Given the description of an element on the screen output the (x, y) to click on. 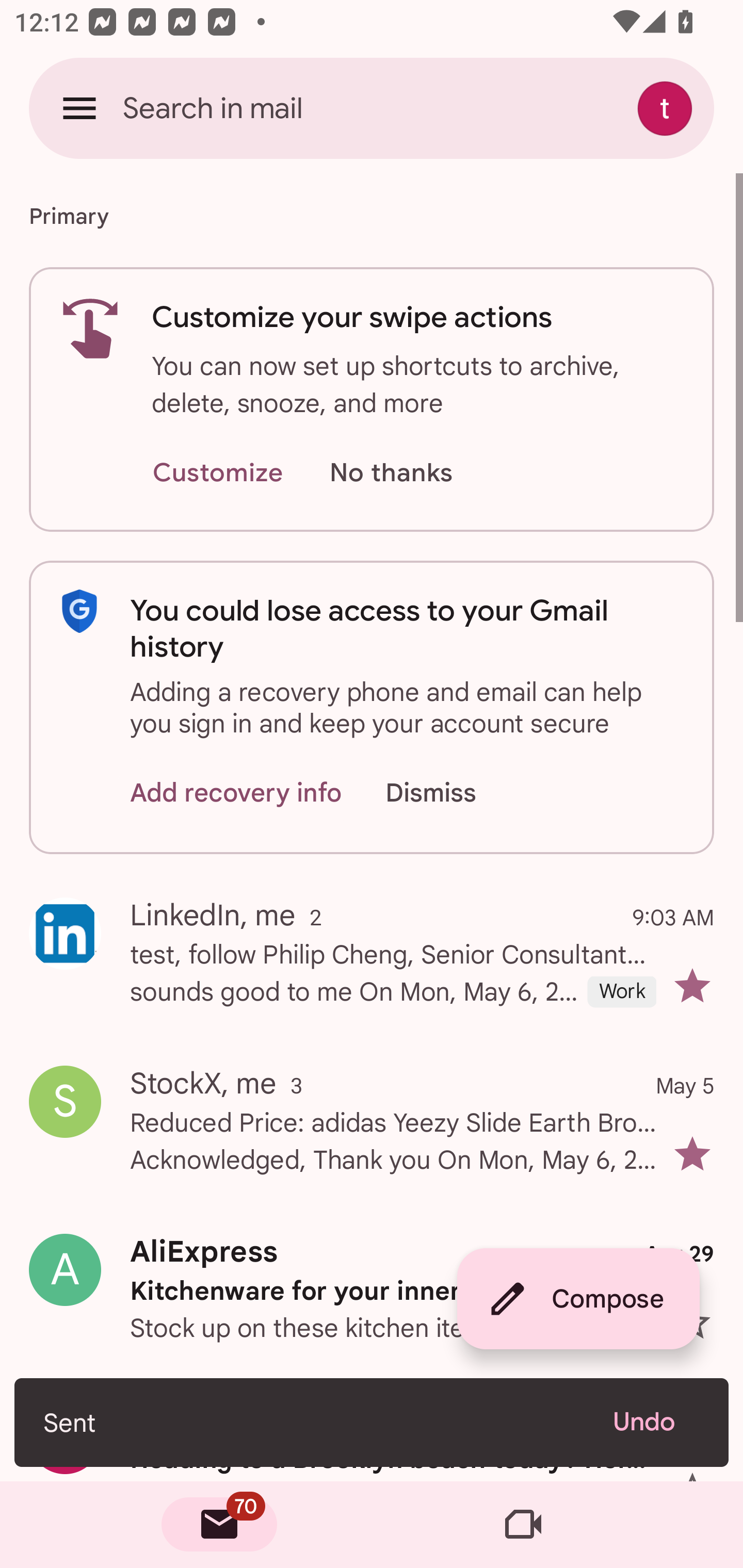
Open navigation drawer (79, 108)
Customize (217, 473)
No thanks (390, 473)
Add recovery info (235, 792)
Dismiss (449, 792)
Compose (577, 1299)
Undo (655, 1422)
Meet (523, 1524)
